Given the description of an element on the screen output the (x, y) to click on. 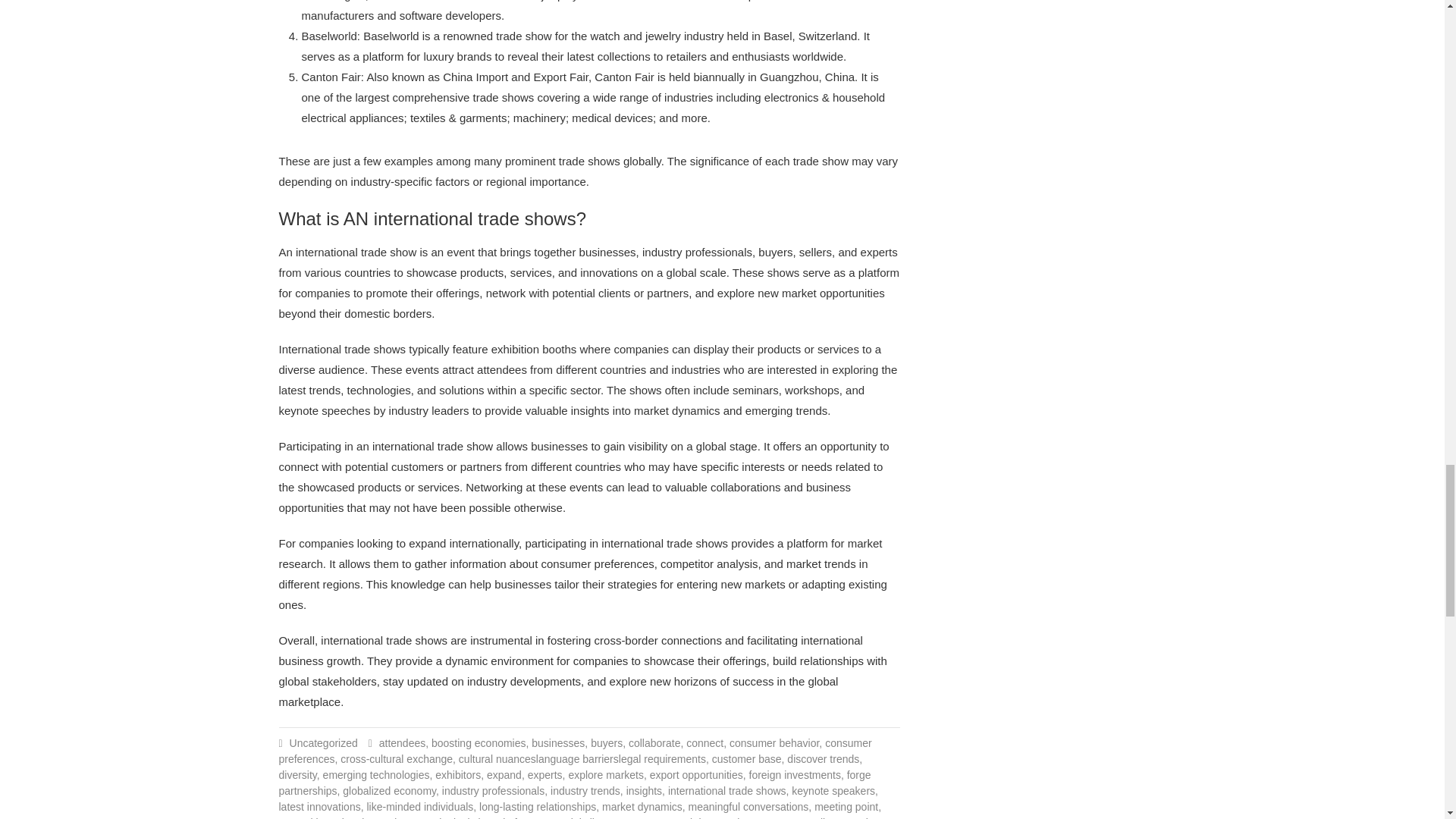
boosting economies (477, 743)
expand (503, 775)
buyers (607, 743)
export opportunities (695, 775)
connect (704, 743)
experts (544, 775)
industry professionals (493, 790)
globalized economy (388, 790)
businesses (558, 743)
cultural nuanceslanguage barrierslegal requirements (582, 758)
Uncategorized (323, 743)
exhibitors (457, 775)
consumer behavior (773, 743)
emerging technologies (376, 775)
consumer preferences (575, 750)
